Given the description of an element on the screen output the (x, y) to click on. 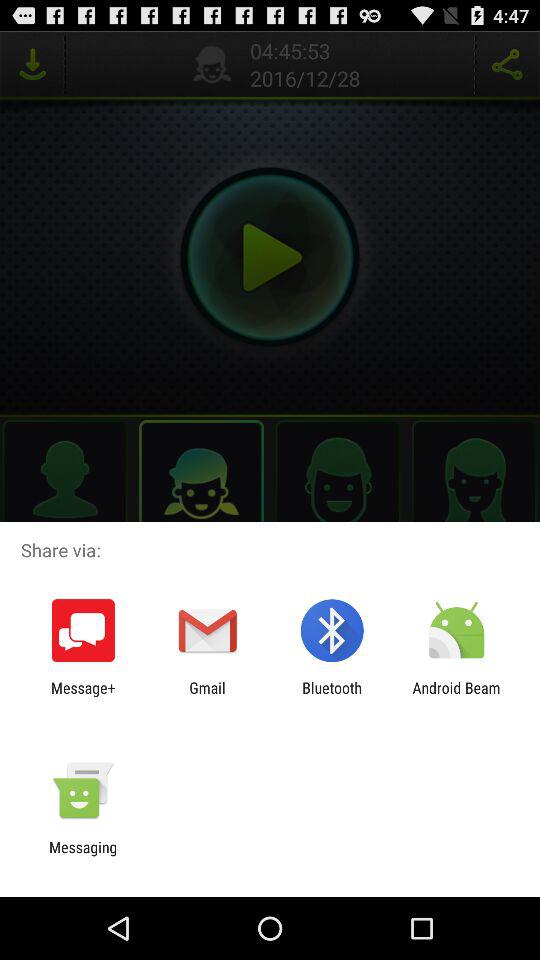
scroll until the bluetooth app (331, 696)
